Given the description of an element on the screen output the (x, y) to click on. 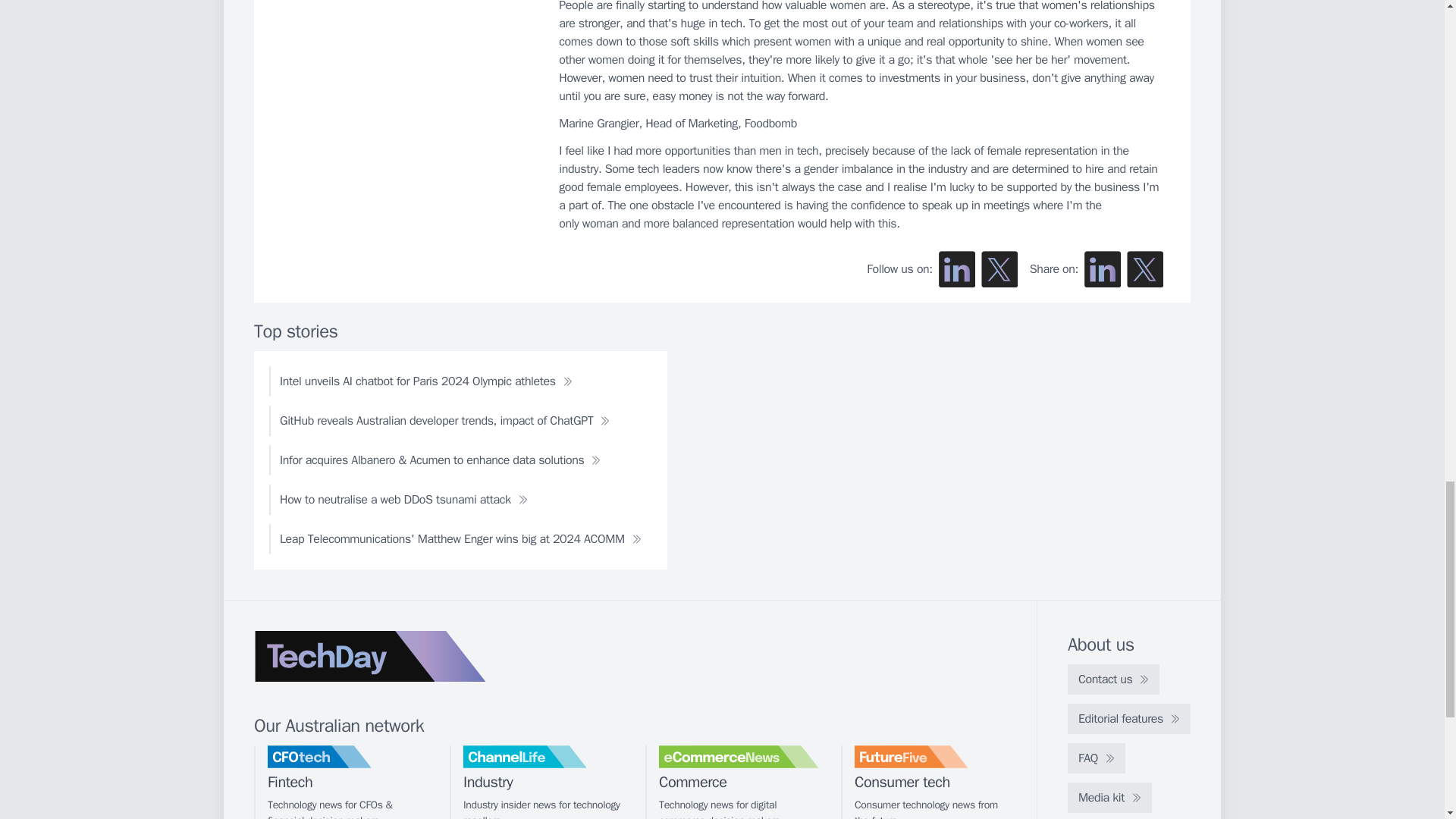
Intel unveils AI chatbot for Paris 2024 Olympic athletes (426, 381)
How to neutralise a web DDoS tsunami attack (403, 499)
